Given the description of an element on the screen output the (x, y) to click on. 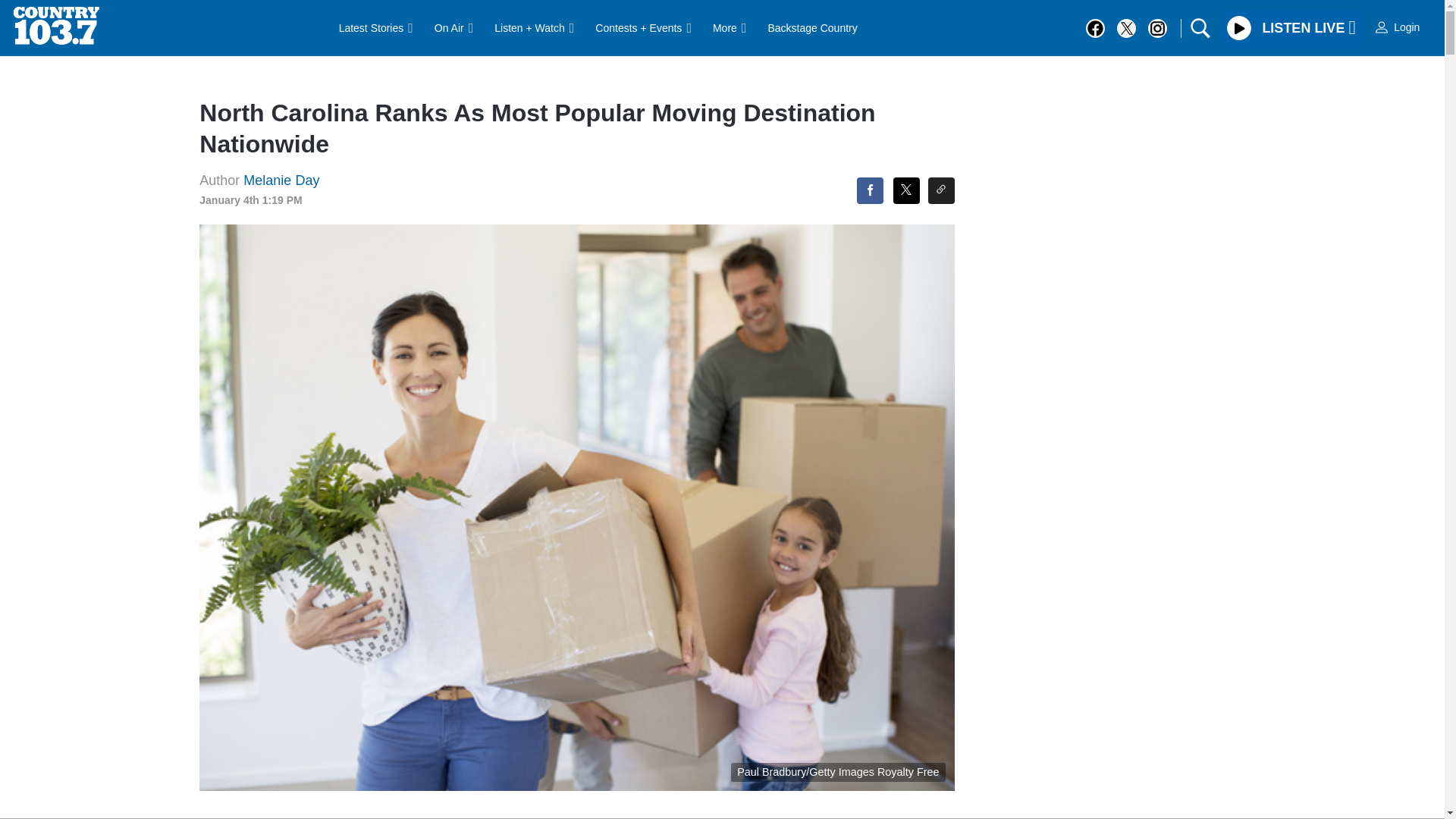
More (729, 28)
Latest Stories (376, 28)
On Air (453, 28)
Melanie Day (280, 180)
